Given the description of an element on the screen output the (x, y) to click on. 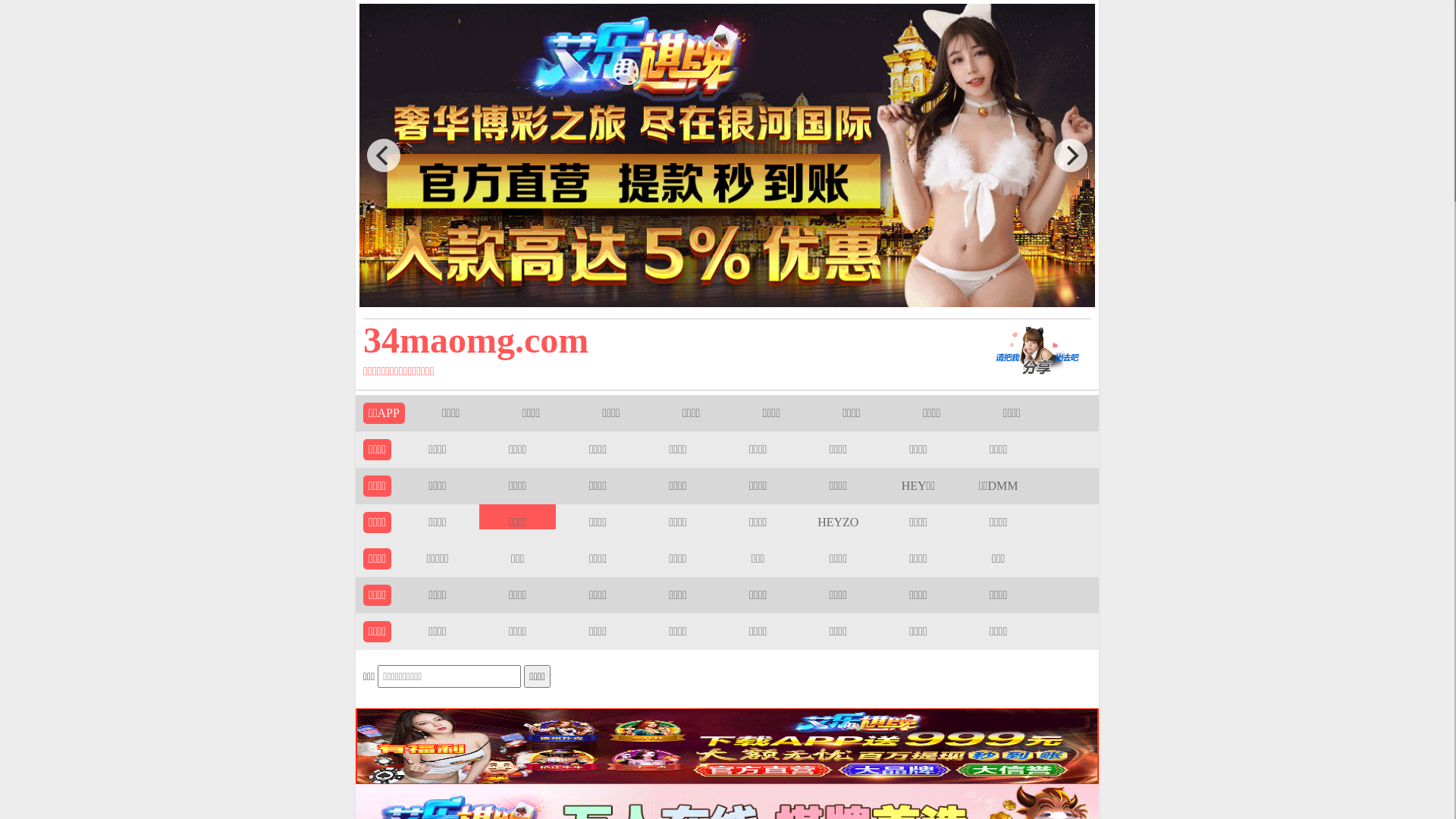
HEYZO Element type: text (837, 521)
34maomg.com Element type: text (654, 339)
